Given the description of an element on the screen output the (x, y) to click on. 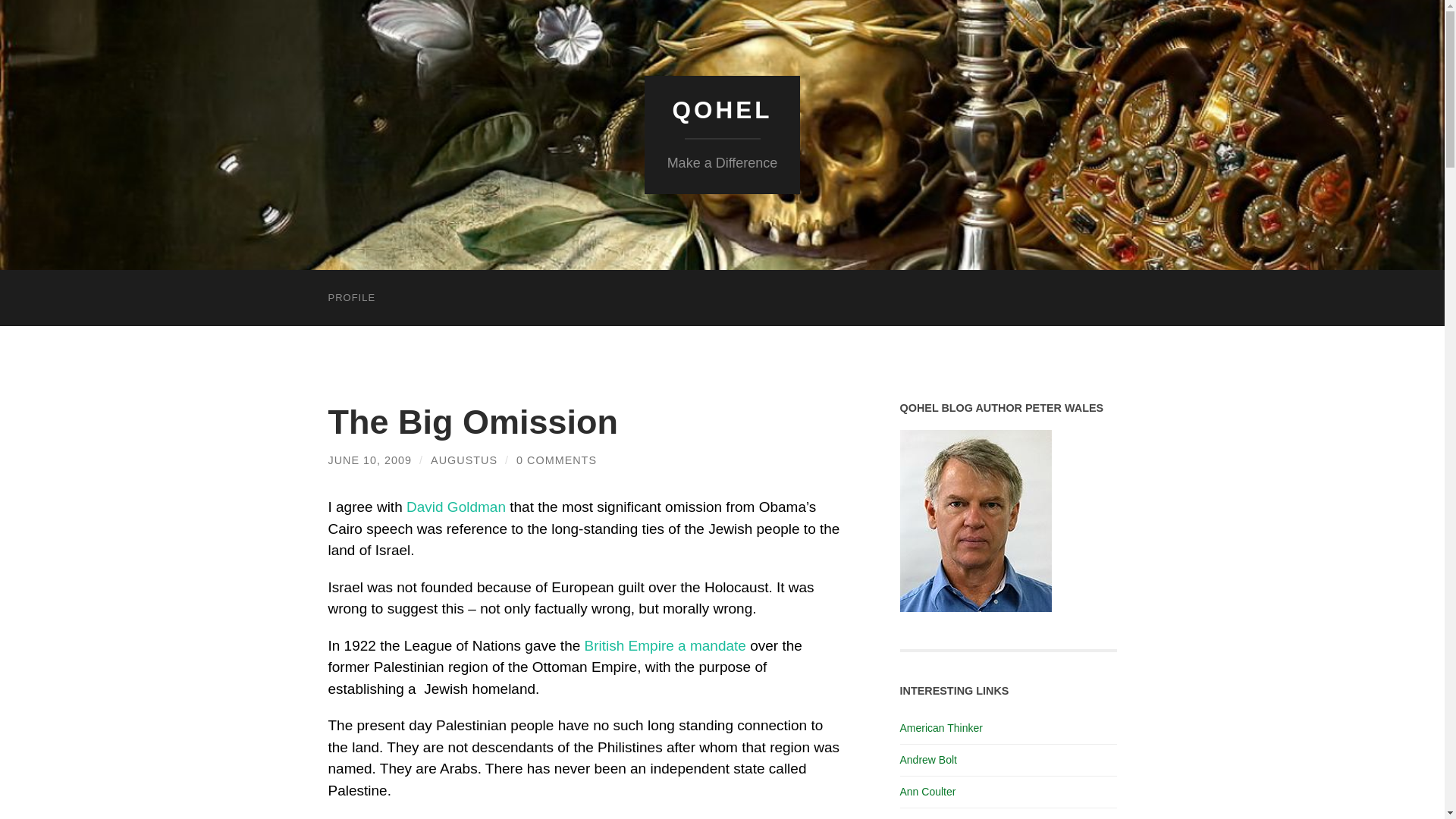
AUGUSTUS (463, 459)
0 COMMENTS (556, 459)
Arts and Letters Daily (950, 818)
QOHEL (721, 109)
Ann Coulter (927, 791)
American Thinker (940, 727)
Posts by Augustus (463, 459)
British Empire a mandate (665, 645)
JUNE 10, 2009 (369, 459)
David Goldman (455, 506)
PROFILE (351, 297)
Andrew Bolt (927, 759)
